Given the description of an element on the screen output the (x, y) to click on. 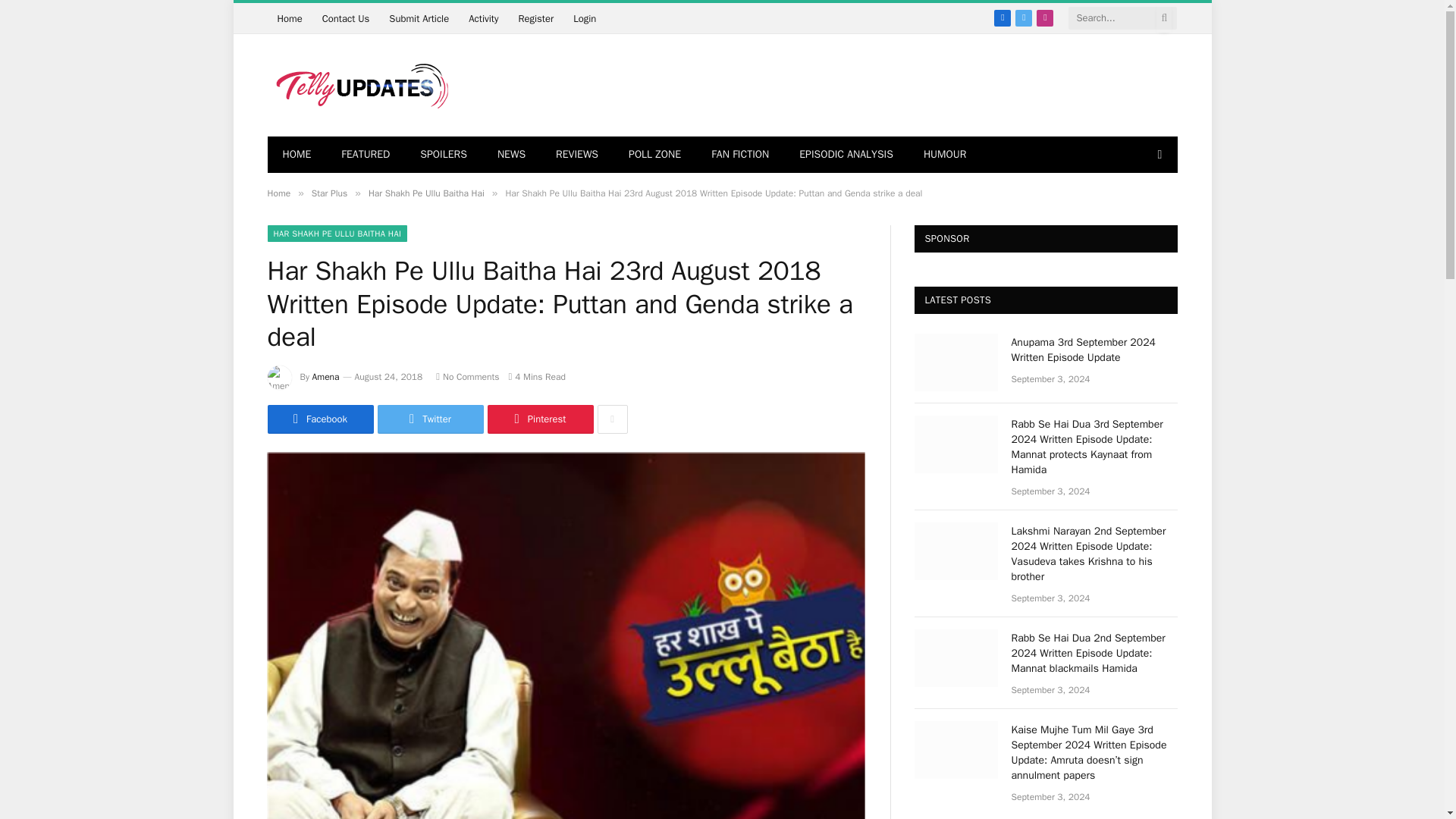
Share on Pinterest (539, 419)
Instagram (1044, 17)
Activity (483, 18)
Home (288, 18)
EPISODIC ANALYSIS (846, 154)
NEWS (510, 154)
Go to Home Page (296, 154)
Switch to Dark Design - easier on eyes. (1158, 154)
Contact Us (346, 18)
Telly Updates (357, 85)
